Given the description of an element on the screen output the (x, y) to click on. 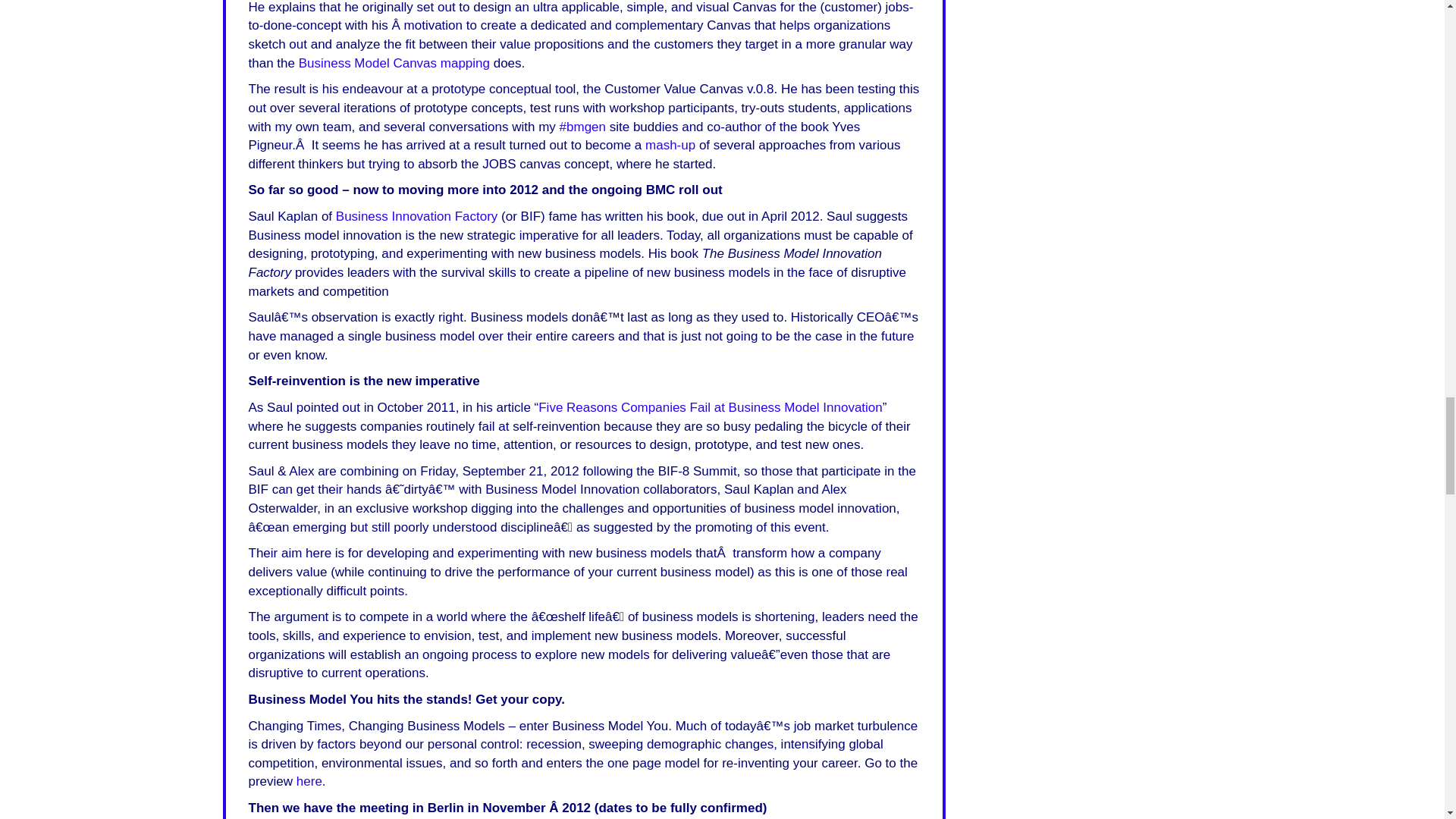
mash-up (670, 145)
Business Innovation Factory (416, 216)
here (309, 780)
Five Reasons Companies Fail at Business Model Innovation (710, 407)
Business Model Canvas mapping (393, 63)
